Given the description of an element on the screen output the (x, y) to click on. 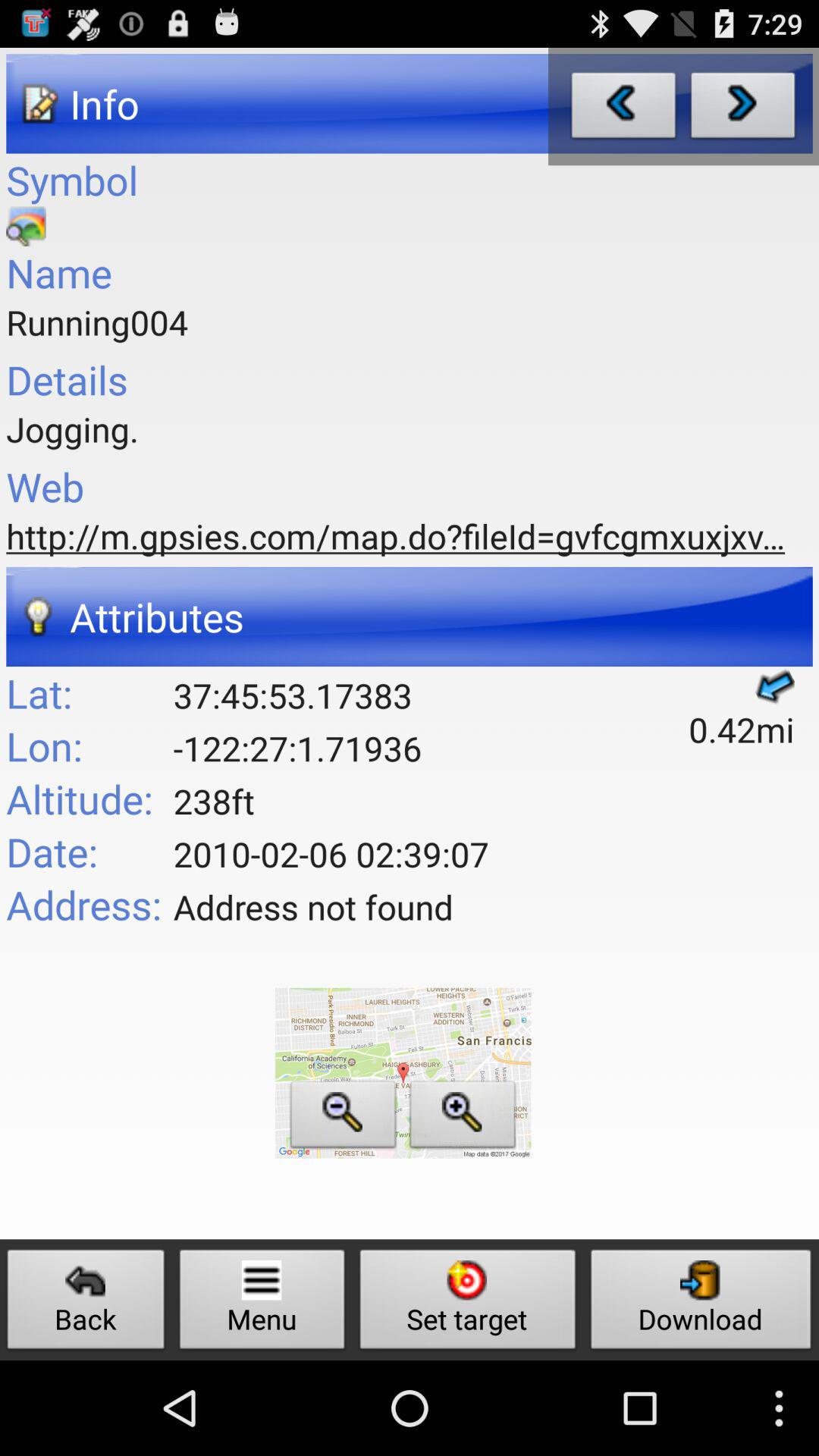
zoom out (343, 1118)
